Given the description of an element on the screen output the (x, y) to click on. 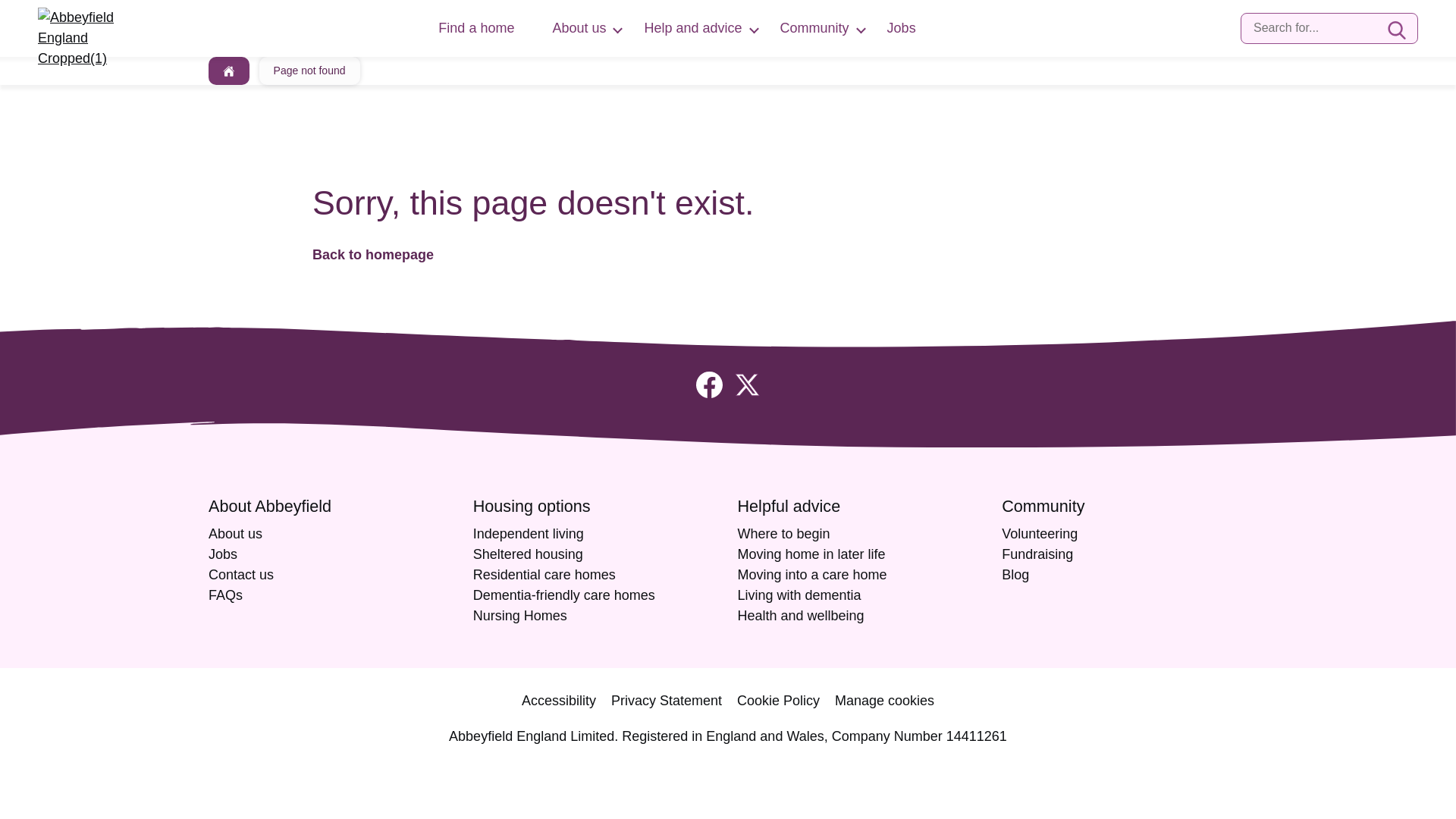
Abbeyfield (373, 254)
Find a home (475, 27)
Page not found (309, 70)
Sheltered housing (528, 554)
About us (578, 27)
Residential care homes (544, 574)
Community (814, 27)
Jobs (222, 554)
About us (235, 533)
Independent living (528, 533)
